Given the description of an element on the screen output the (x, y) to click on. 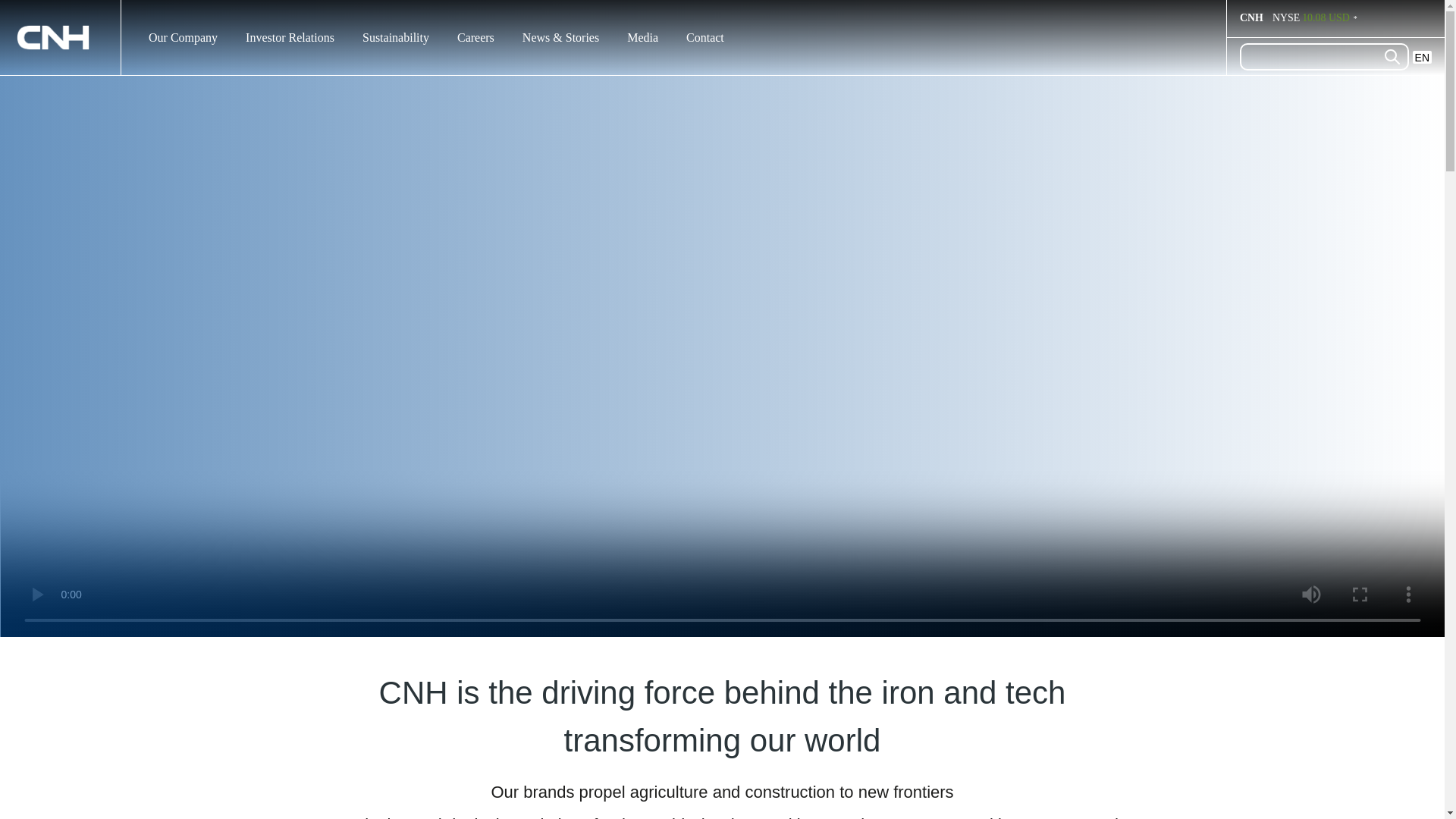
Investor Relations (290, 37)
EN (1421, 56)
Sustainability (395, 37)
Careers (476, 36)
Our Company (182, 37)
Media (642, 37)
Contact (704, 36)
